Given the description of an element on the screen output the (x, y) to click on. 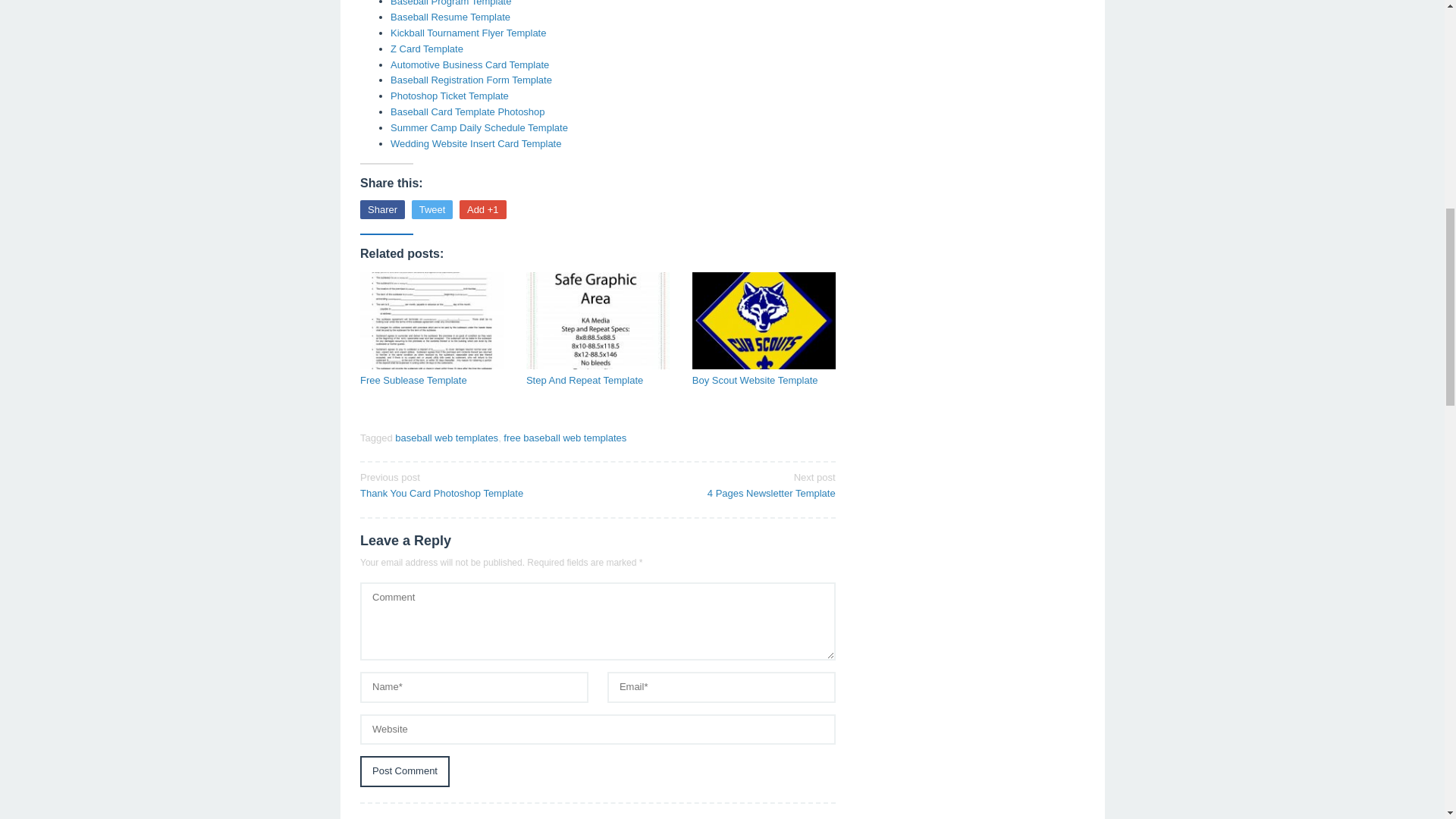
Tweet (432, 209)
June 20, 2018 (450, 3)
Baseball Card Template Photoshop (473, 484)
May 28, 2018 (467, 111)
free baseball web templates (467, 111)
Baseball Program Template (564, 437)
Automotive Business Card Template (450, 3)
Sharer (469, 64)
